Given the description of an element on the screen output the (x, y) to click on. 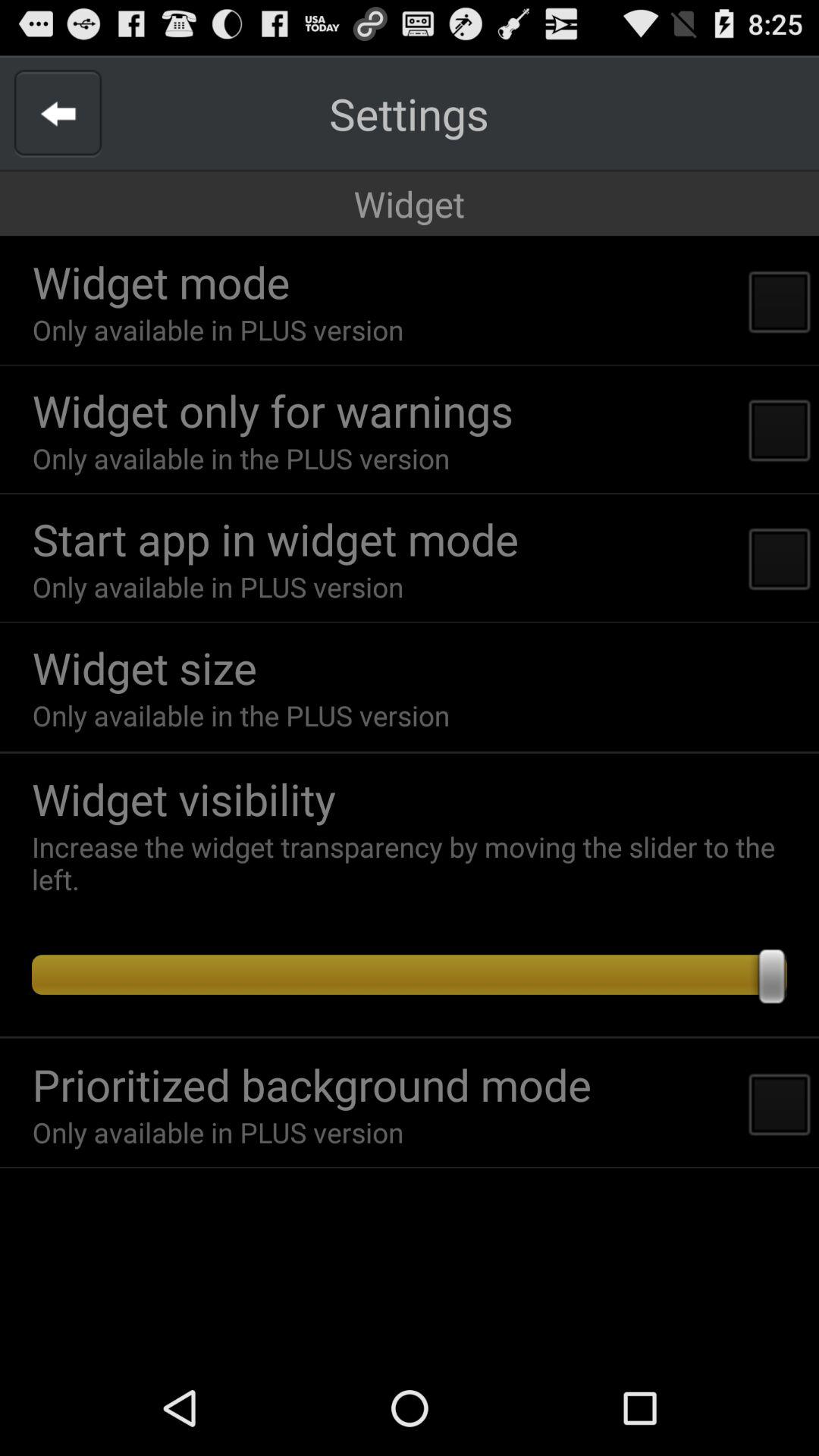
press widget visibility item (417, 798)
